Given the description of an element on the screen output the (x, y) to click on. 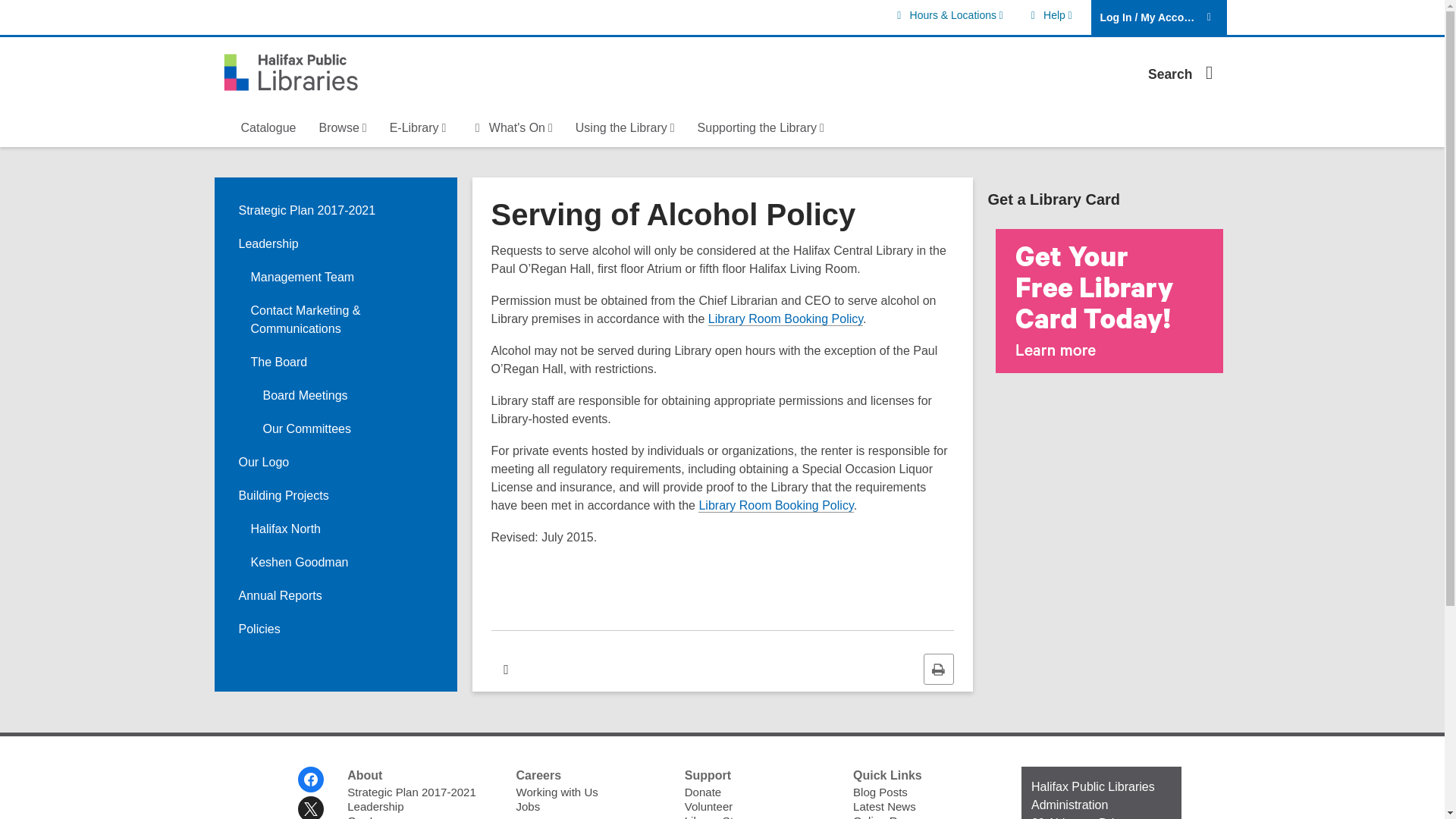
Search (1048, 15)
